Given the description of an element on the screen output the (x, y) to click on. 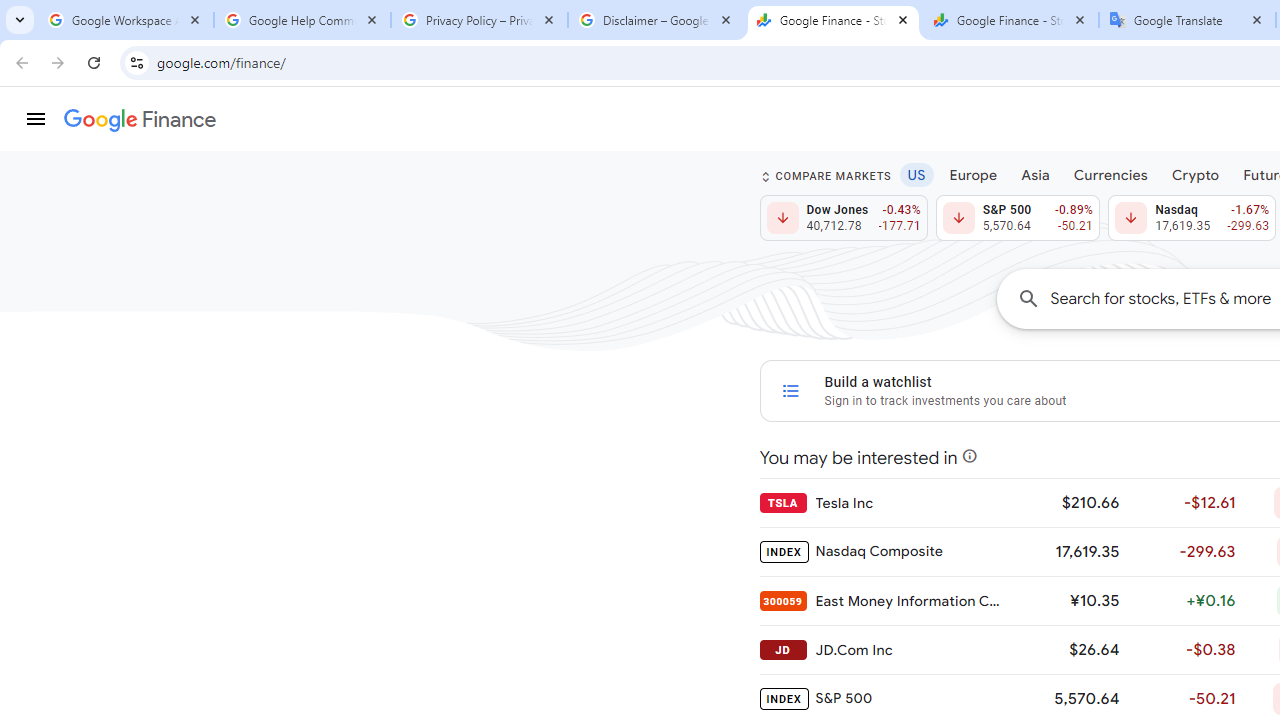
US (916, 174)
Google Workspace Admin Community (125, 20)
Nasdaq 17,619.35 Down by 1.67% -299.63 (1192, 218)
Main menu (35, 119)
S&P 500 5,570.64 Down by 0.89% -50.21 (1017, 218)
